Given the description of an element on the screen output the (x, y) to click on. 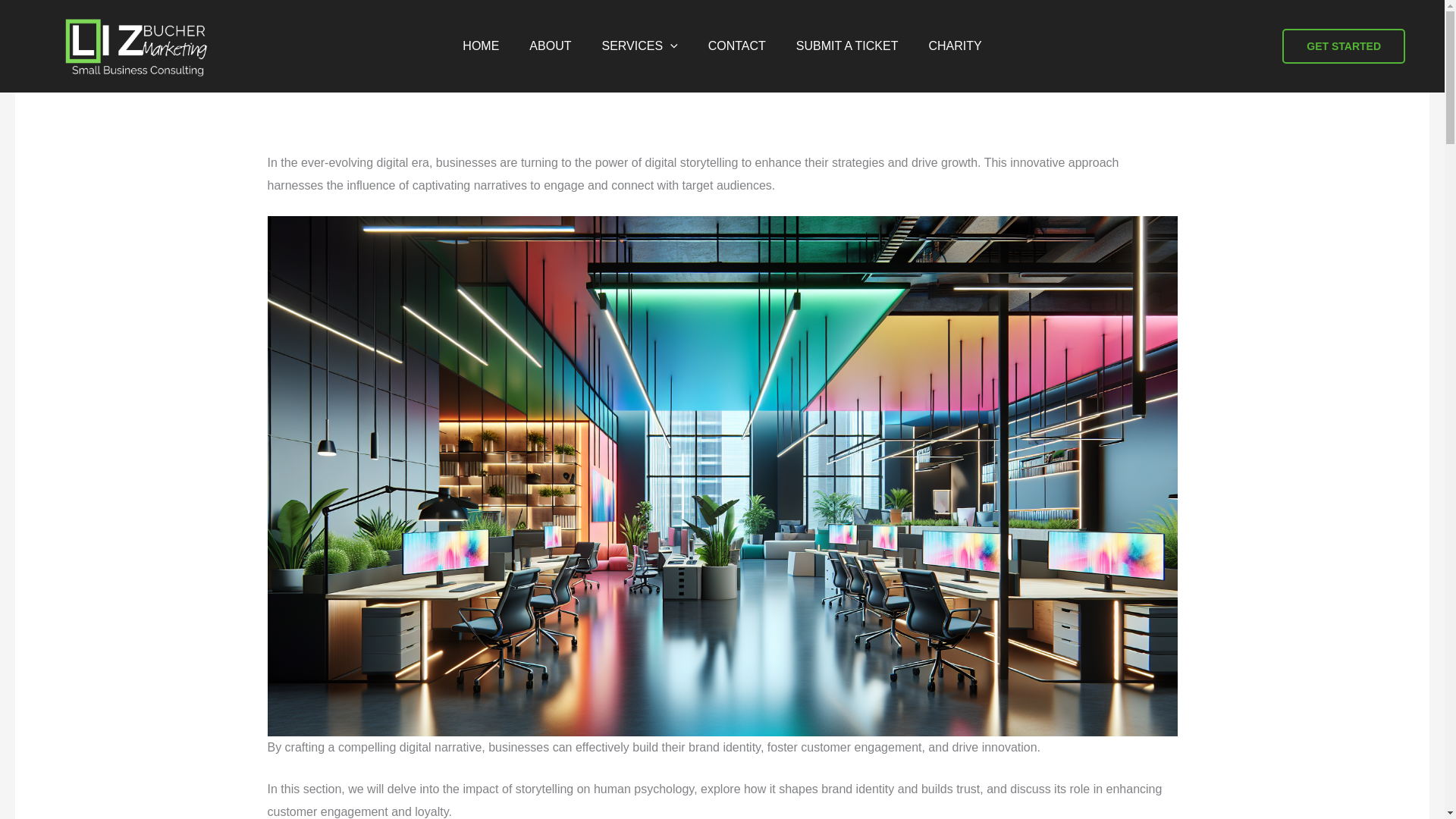
CONTACT (736, 46)
CHARITY (953, 46)
SERVICES (639, 46)
SUBMIT A TICKET (847, 46)
GET STARTED (1343, 45)
